Given the description of an element on the screen output the (x, y) to click on. 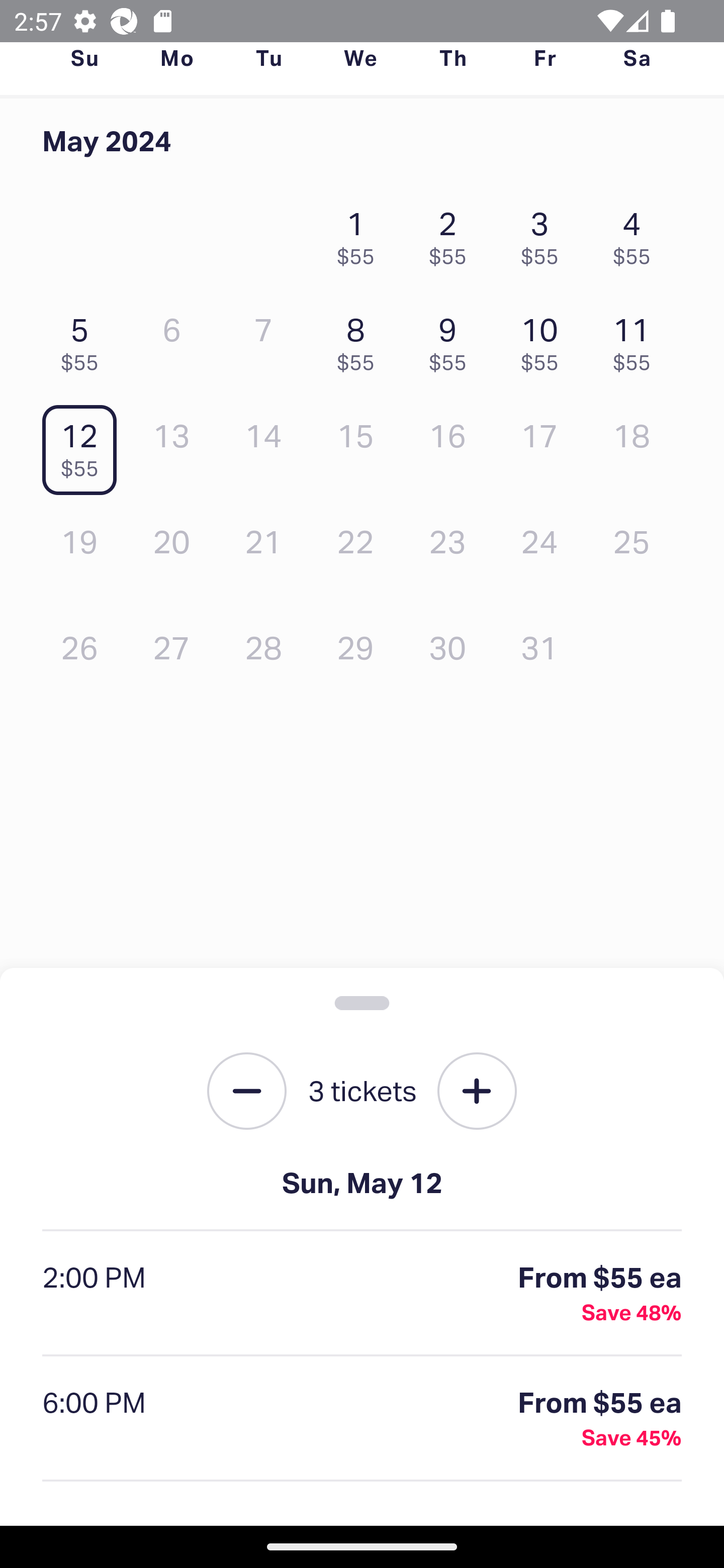
1 $55 (360, 232)
2 $55 (452, 232)
3 $55 (544, 232)
4 $55 (636, 232)
5 $55 (84, 339)
8 $55 (360, 339)
9 $55 (452, 339)
10 $55 (544, 339)
11 $55 (636, 339)
12 $55 (84, 445)
2:00 PM From $55 ea Save 48% (361, 1293)
6:00 PM From $55 ea Save 45% (361, 1418)
